Given the description of an element on the screen output the (x, y) to click on. 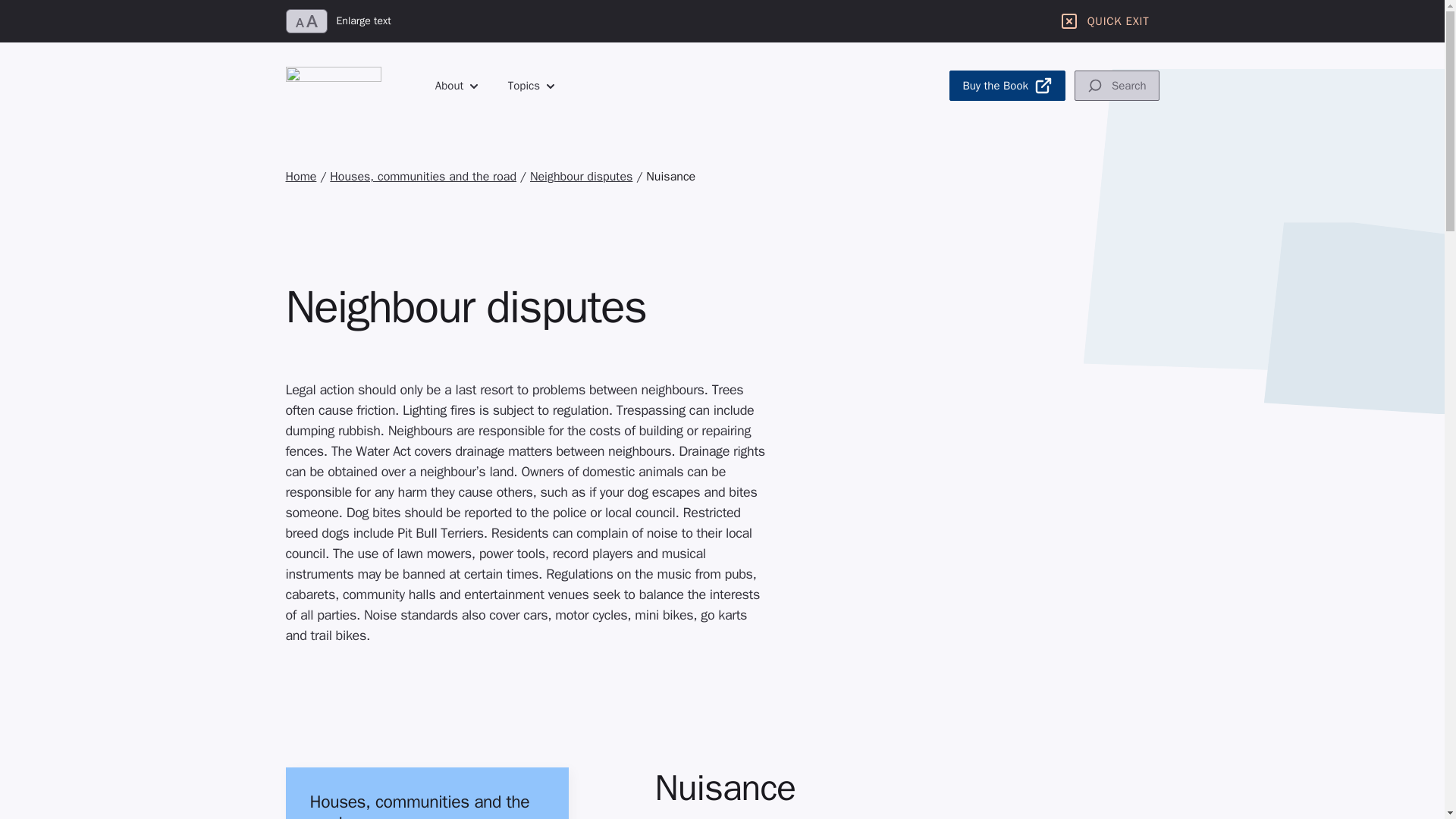
Topics (531, 85)
Houses, communities and the road (423, 176)
Home (300, 176)
Search (1116, 85)
QUICK EXIT (1103, 21)
Neighbour disputes (580, 176)
Buy the Book (1007, 85)
About (464, 85)
